Given the description of an element on the screen output the (x, y) to click on. 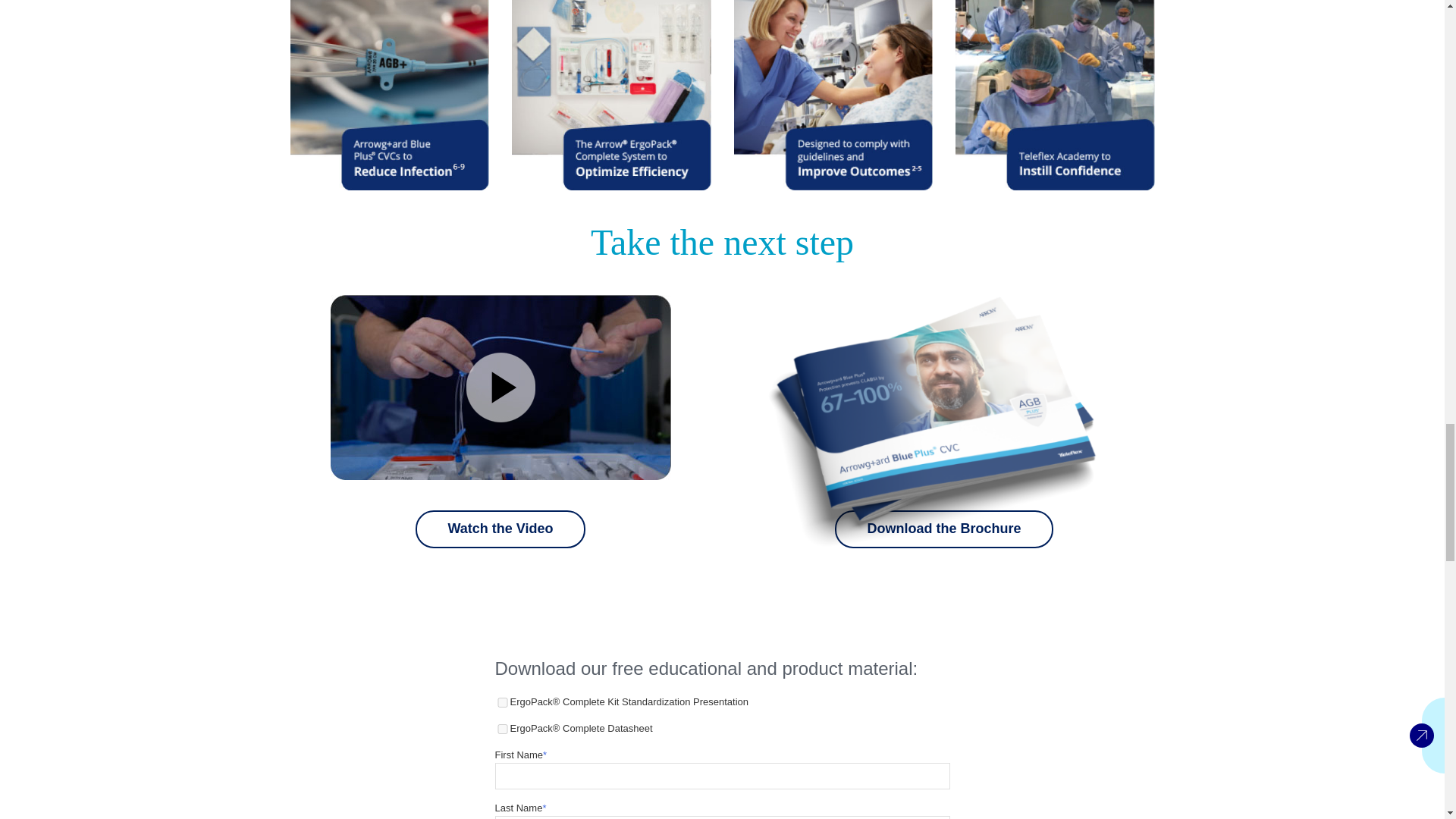
Download the Brochure (943, 420)
Watch the Video (500, 449)
